Given the description of an element on the screen output the (x, y) to click on. 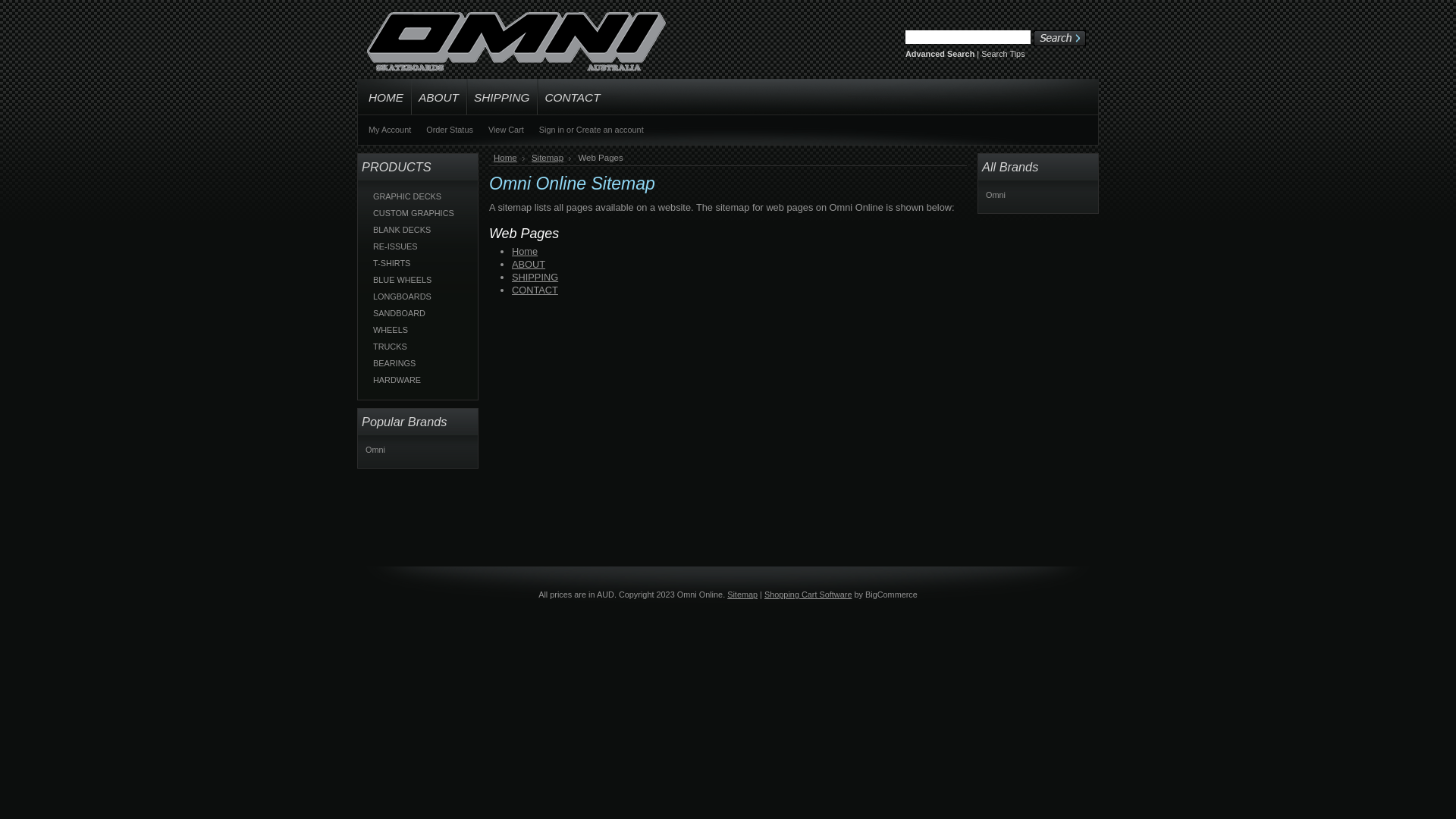
CONTACT Element type: text (534, 289)
ABOUT Element type: text (438, 96)
HOME Element type: text (384, 96)
Search Tips Element type: text (1002, 53)
LONGBOARDS Element type: text (418, 296)
Home Element type: text (524, 251)
CONTACT Element type: text (571, 96)
BEARINGS Element type: text (418, 362)
Omni Element type: text (995, 194)
CUSTOM GRAPHICS Element type: text (418, 212)
View Cart Element type: text (505, 129)
Sign in Element type: text (551, 129)
My Account Element type: text (389, 129)
GRAPHIC DECKS Element type: text (418, 196)
Advanced Search Element type: text (939, 53)
Order Status Element type: text (449, 129)
SANDBOARD Element type: text (418, 312)
WHEELS Element type: text (418, 329)
HARDWARE Element type: text (418, 379)
T-SHIRTS Element type: text (418, 262)
SHIPPING Element type: text (501, 96)
RE-ISSUES Element type: text (418, 246)
Home Element type: text (508, 157)
Shopping Cart Software Element type: text (807, 594)
Create an account Element type: text (609, 129)
BLANK DECKS Element type: text (418, 229)
TRUCKS Element type: text (418, 346)
Sitemap Element type: text (551, 157)
SHIPPING Element type: text (534, 276)
Omni Element type: text (375, 449)
BLUE WHEELS Element type: text (418, 279)
ABOUT Element type: text (528, 263)
Sitemap Element type: text (742, 594)
